Given the description of an element on the screen output the (x, y) to click on. 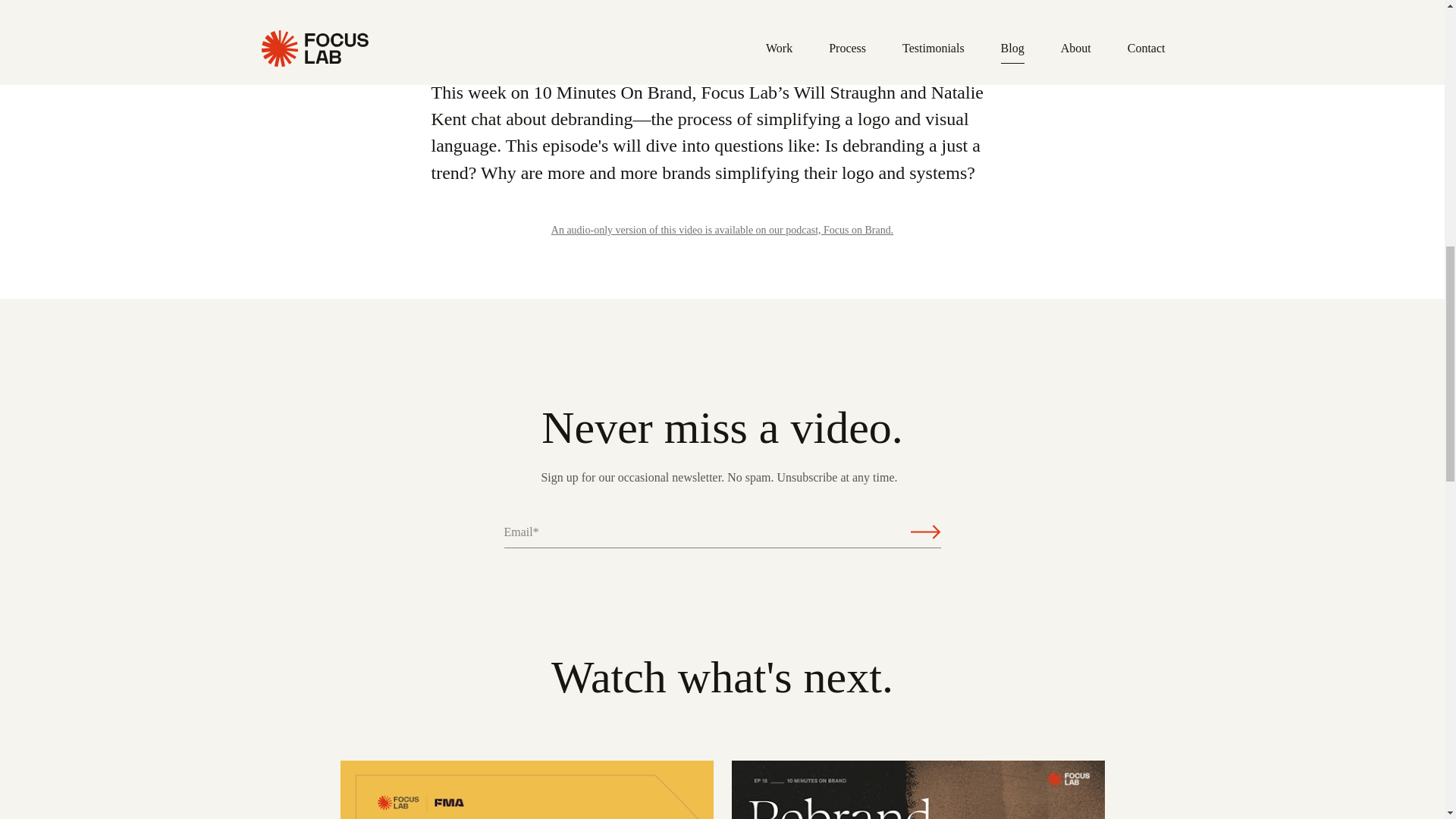
Subscribe (925, 531)
Subscribe (925, 531)
